Given the description of an element on the screen output the (x, y) to click on. 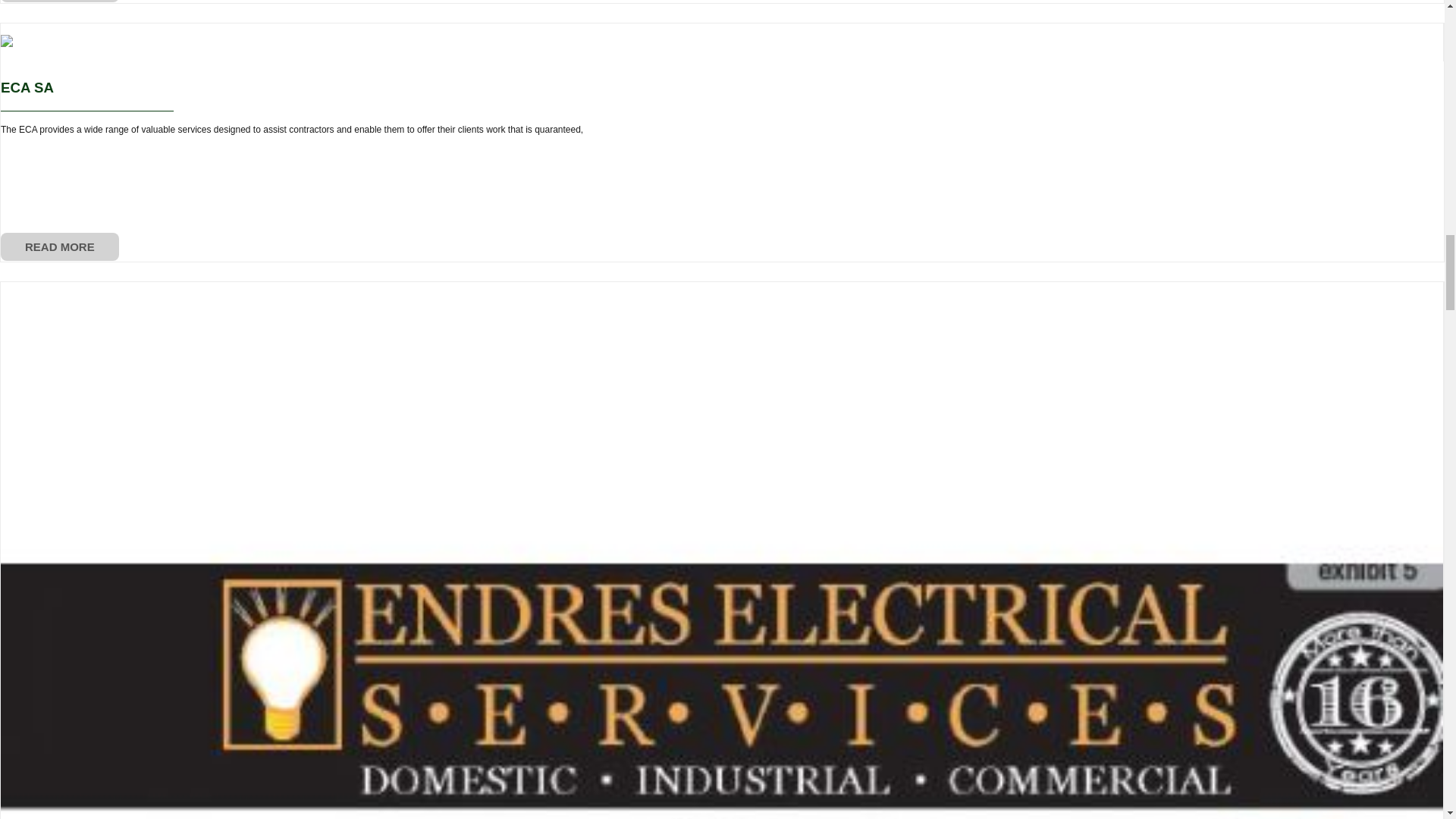
ECA SA (27, 87)
READ MORE (60, 1)
READ MORE (60, 246)
